Given the description of an element on the screen output the (x, y) to click on. 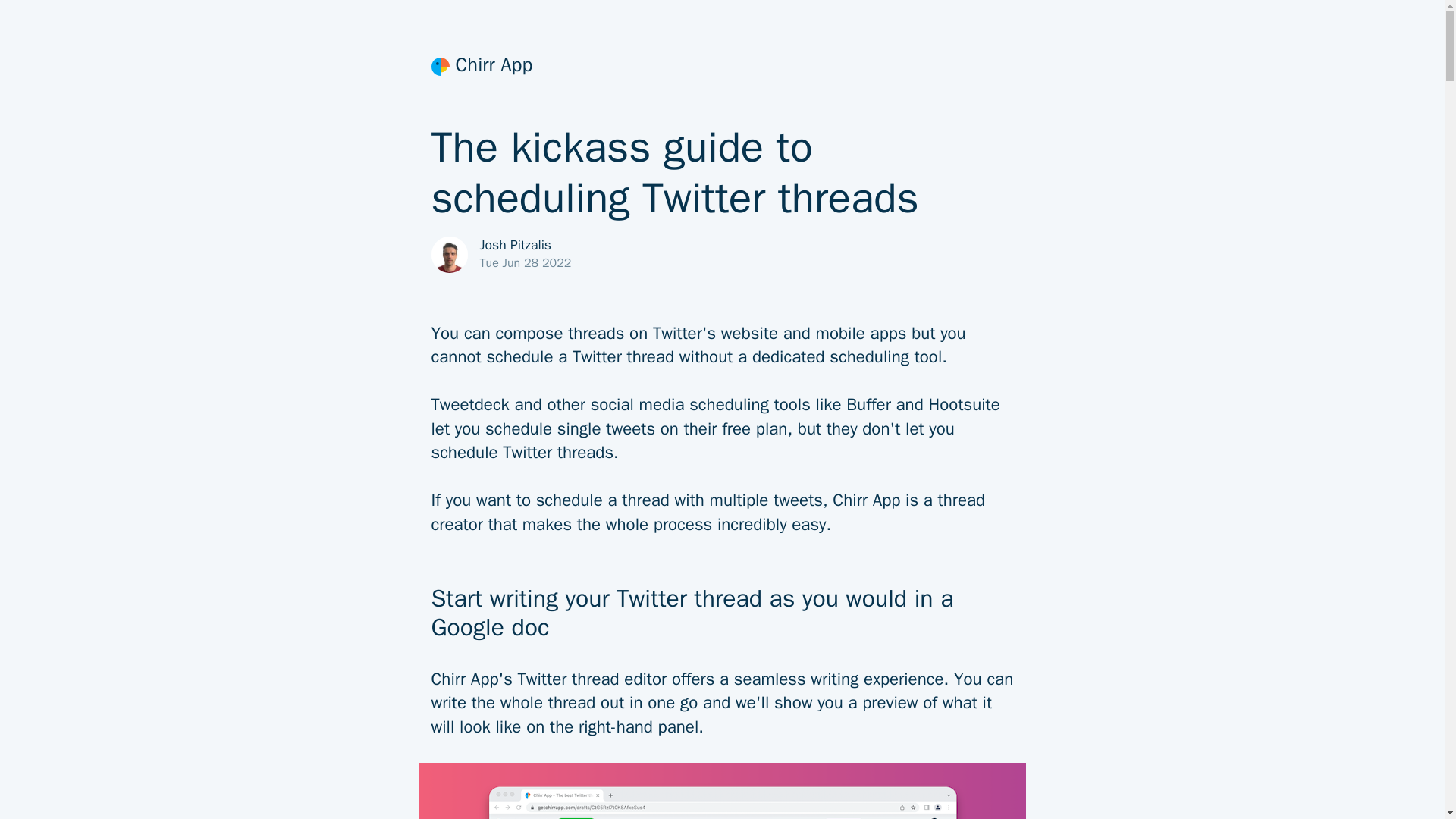
Chirr App (721, 66)
